Given the description of an element on the screen output the (x, y) to click on. 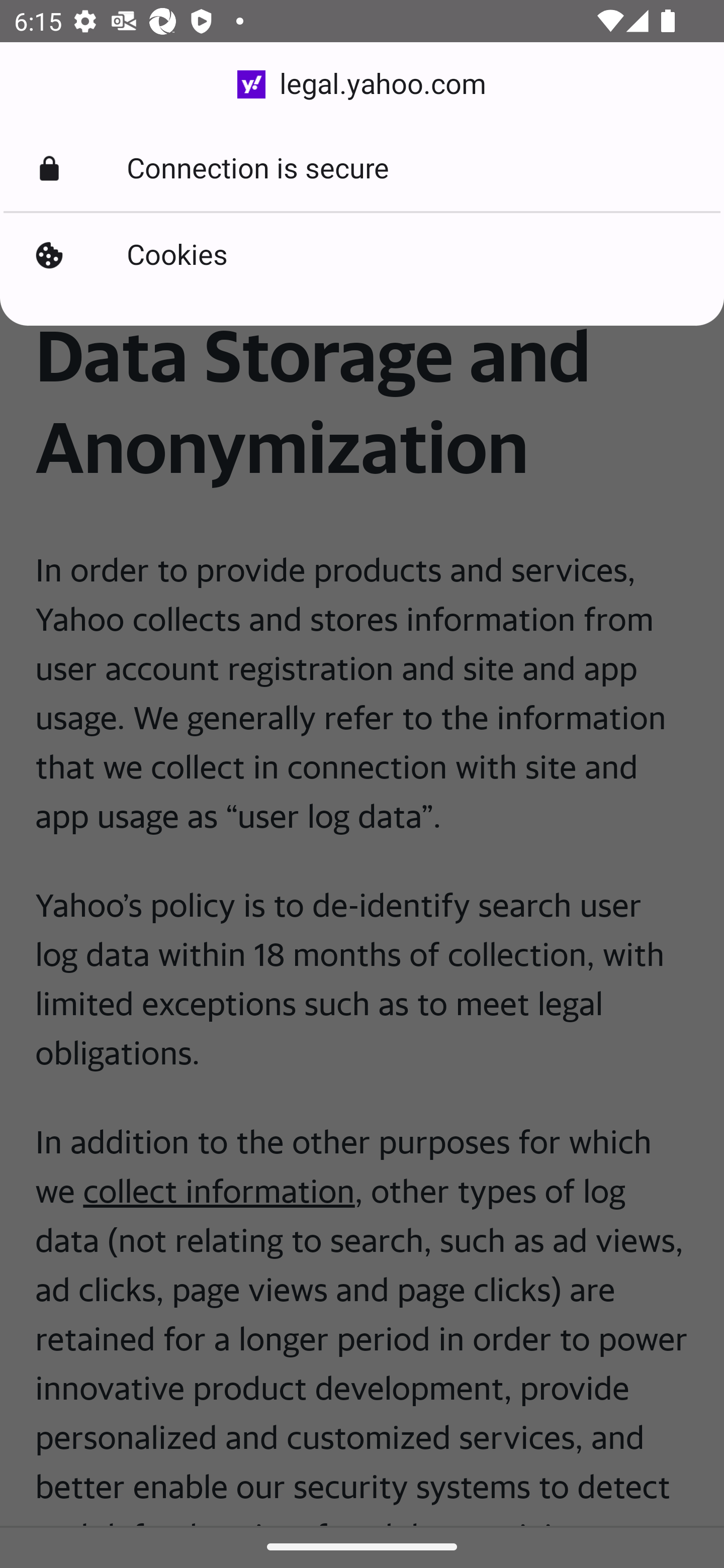
legal.yahoo.com (362, 84)
Connection is secure (362, 169)
Cookies (362, 255)
